Given the description of an element on the screen output the (x, y) to click on. 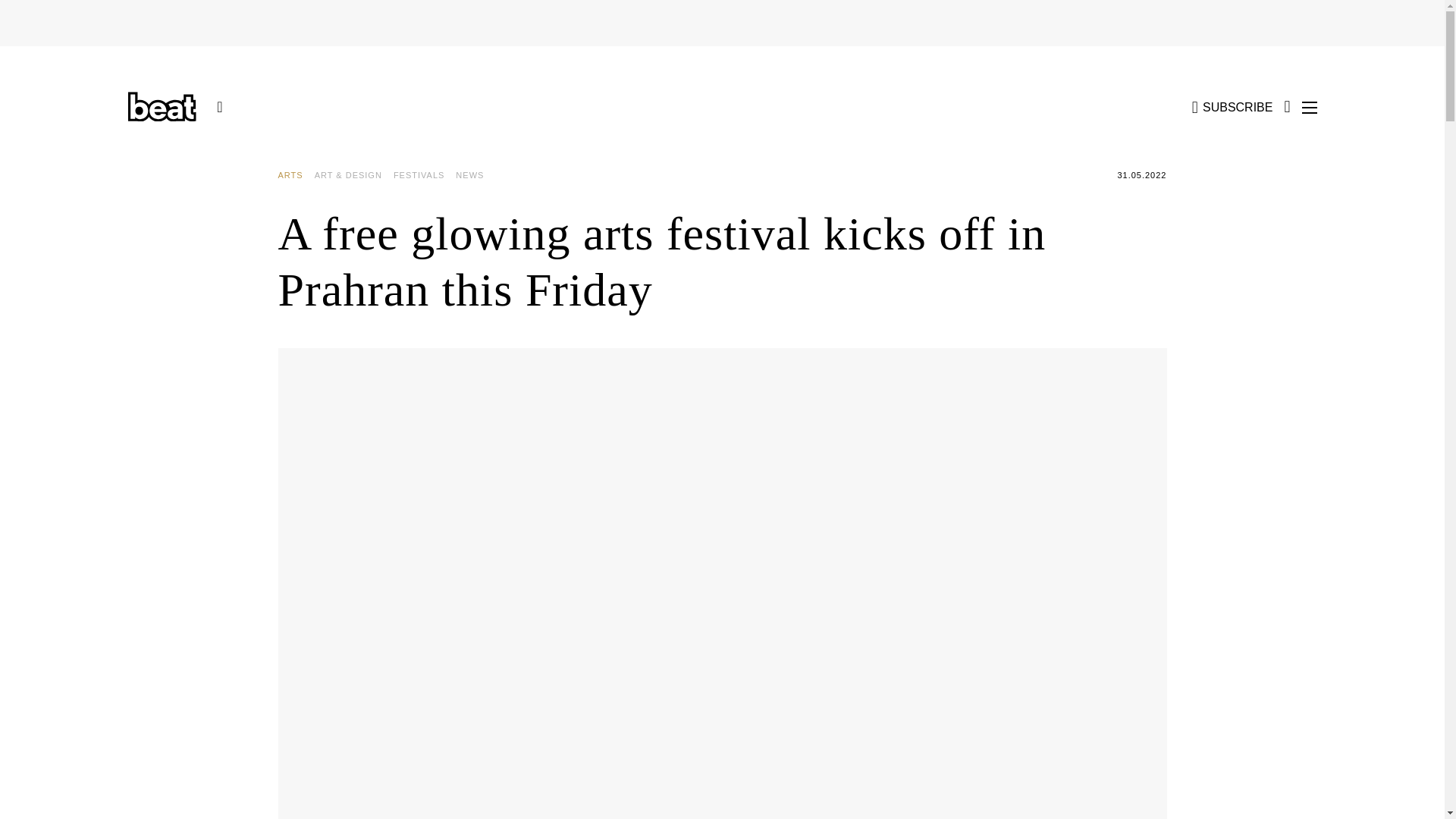
FESTIVALS (424, 175)
ARTS (296, 175)
NEWS (475, 175)
